Given the description of an element on the screen output the (x, y) to click on. 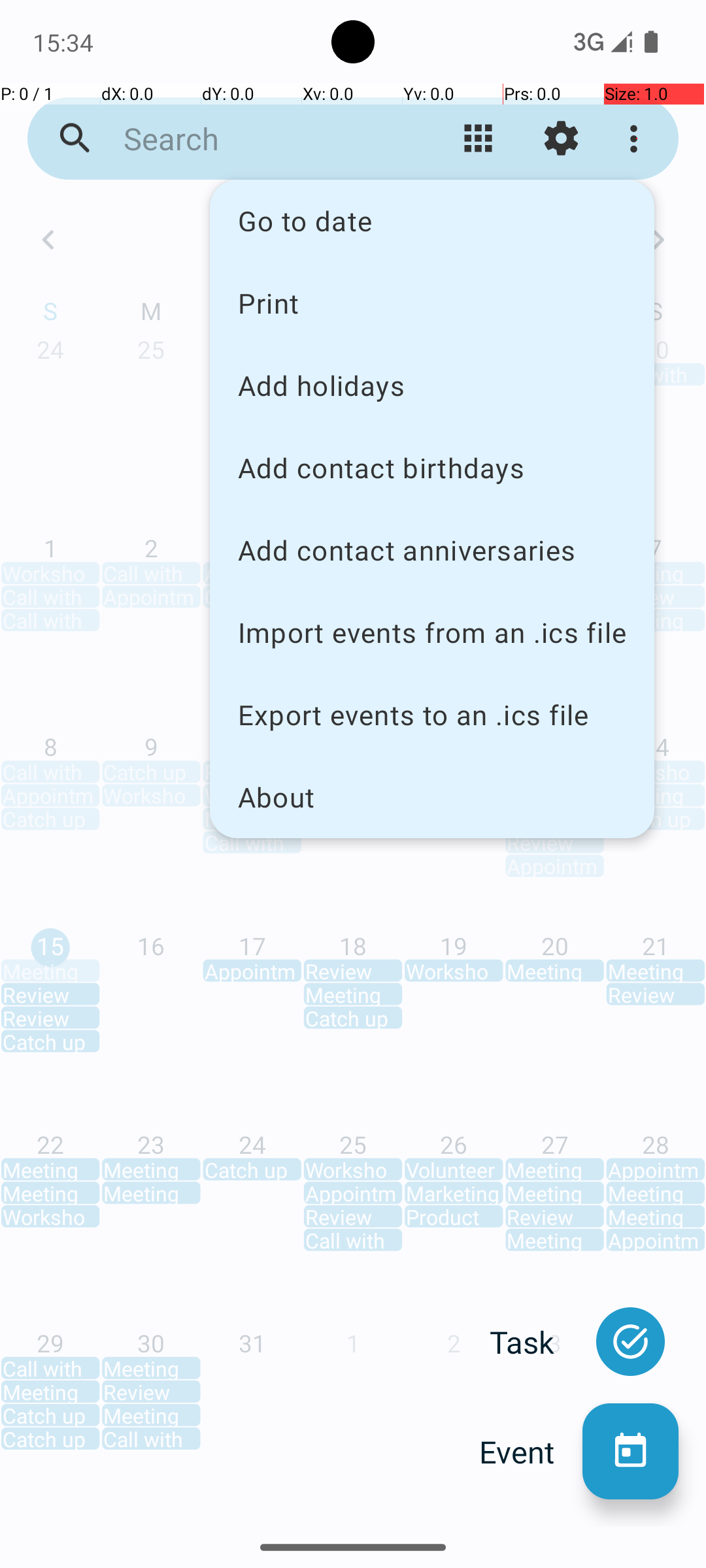
Go to date Element type: android.widget.TextView (431, 220)
Print Element type: android.widget.TextView (431, 302)
Add holidays Element type: android.widget.TextView (431, 384)
Add contact birthdays Element type: android.widget.TextView (431, 467)
Add contact anniversaries Element type: android.widget.TextView (431, 549)
Import events from an .ics file Element type: android.widget.TextView (431, 631)
Export events to an .ics file Element type: android.widget.TextView (431, 714)
